Given the description of an element on the screen output the (x, y) to click on. 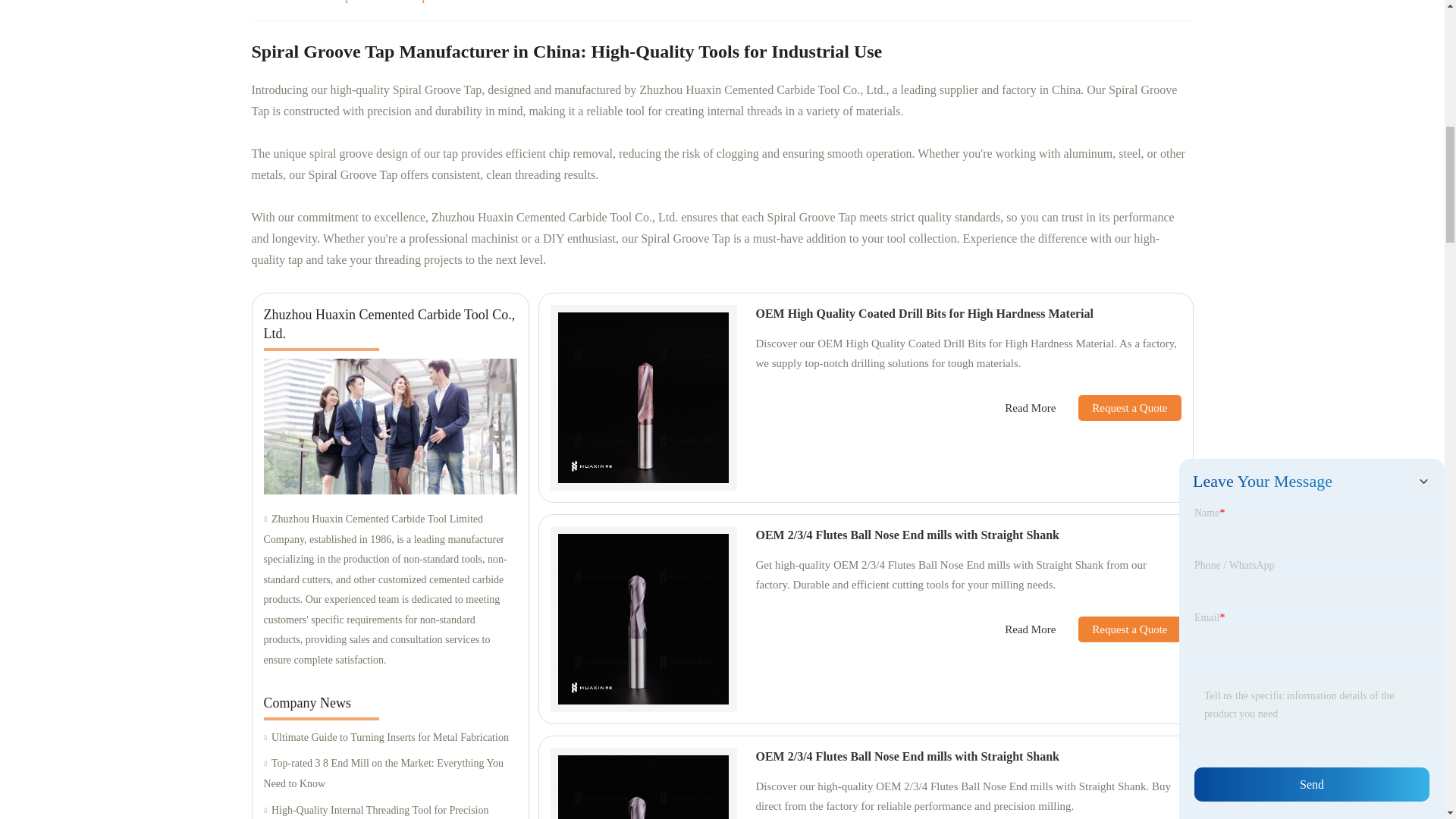
Request a Quote (1117, 629)
Home (296, 1)
Read More (1029, 629)
Request a Quote (1117, 407)
Ultimate Guide to Turning Inserts for Metal Fabrication (389, 738)
Read More (1029, 407)
